Given the description of an element on the screen output the (x, y) to click on. 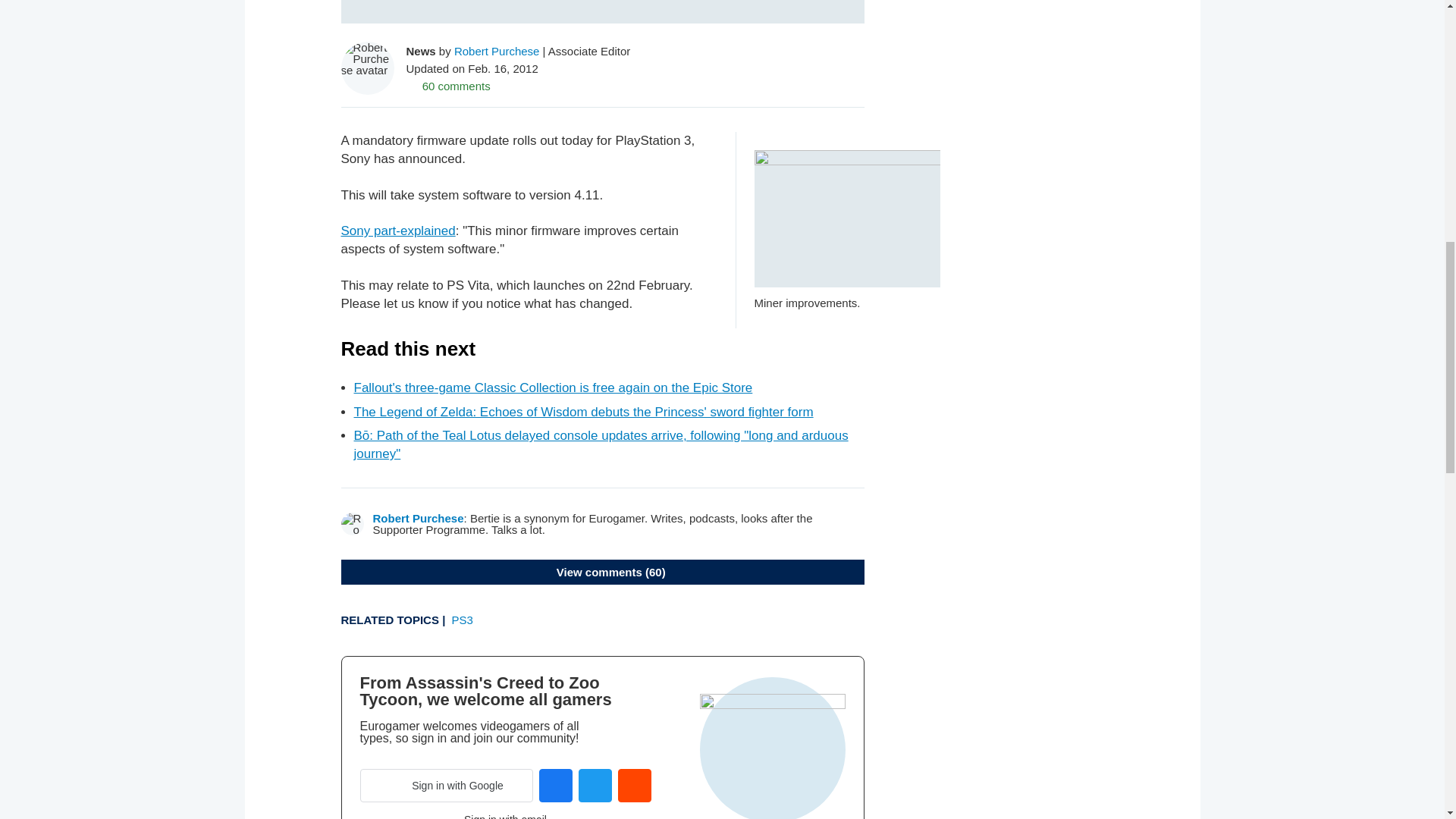
60 comments (448, 84)
PS3 (462, 619)
Robert Purchese (497, 50)
Sony part-explained (397, 230)
Robert Purchese (418, 517)
Sign in with email (504, 816)
Sign in with Google (445, 785)
Sign in with Google (445, 785)
